Given the description of an element on the screen output the (x, y) to click on. 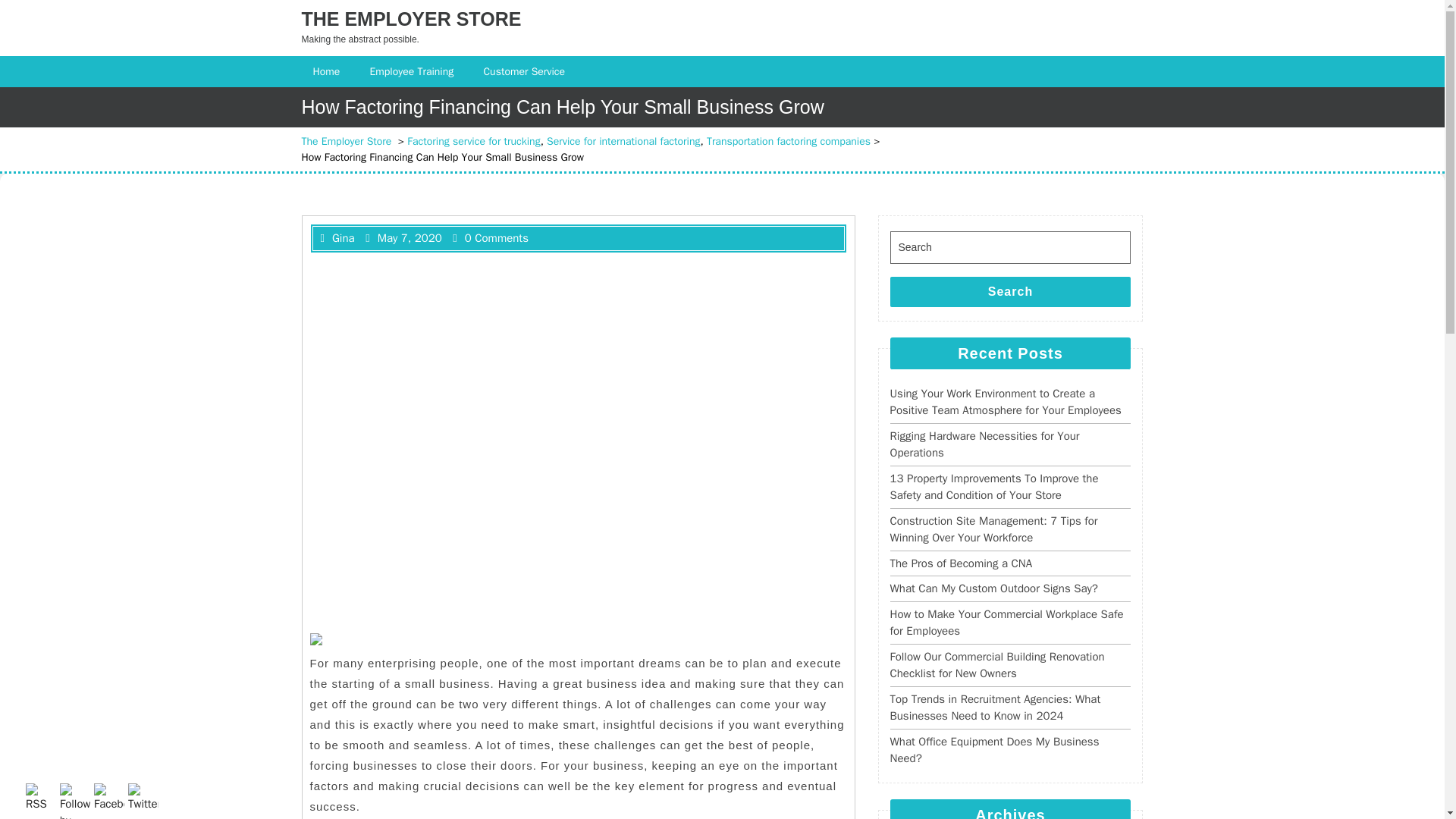
What Office Equipment Does My Business Need? (994, 749)
Service for international factoring (623, 141)
Transportation factoring companies (788, 141)
What Can My Custom Outdoor Signs Say? (993, 588)
Rigging Hardware Necessities for Your Operations (984, 444)
Search (1010, 291)
Employee Training (413, 71)
Customer Service (525, 71)
The Employer Store (346, 141)
